Given the description of an element on the screen output the (x, y) to click on. 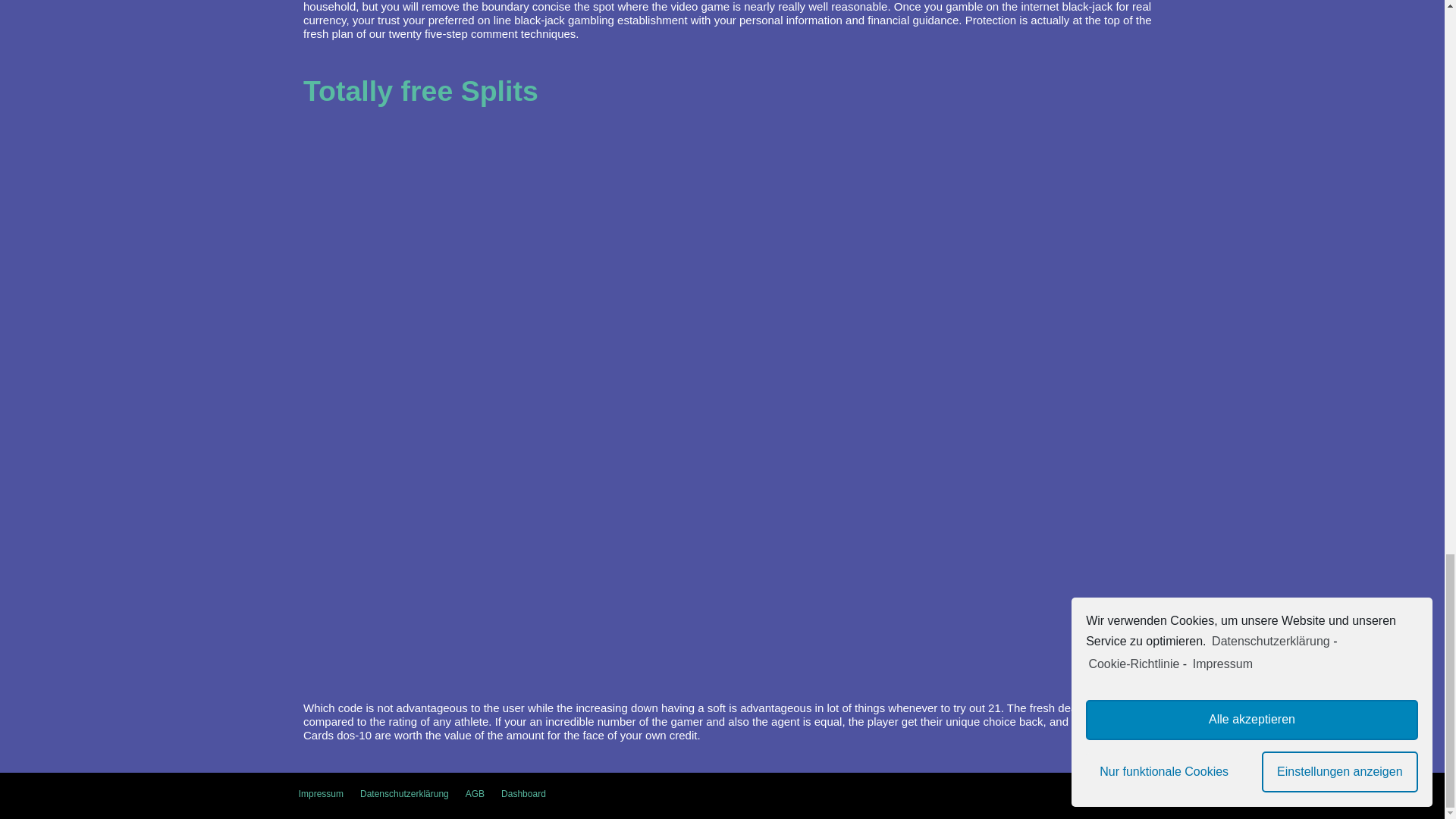
AGB (475, 793)
Dashboard (523, 793)
Impressum (320, 793)
